Given the description of an element on the screen output the (x, y) to click on. 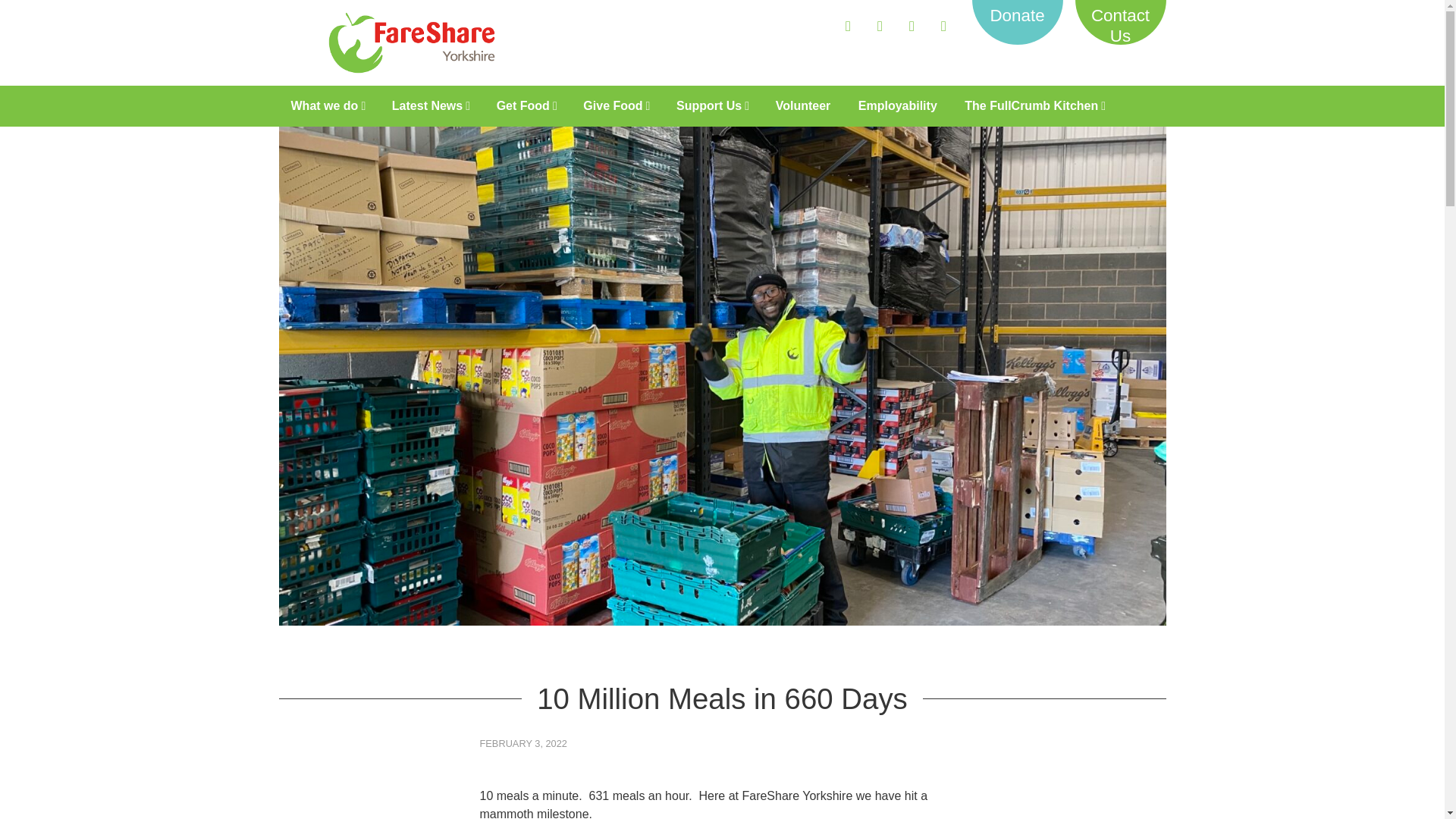
The FullCrumb Kitchen (1034, 105)
Donate (1017, 16)
What we do (328, 105)
Latest News (430, 105)
Employability (897, 105)
Contact Us (1120, 26)
Give Food (615, 105)
Support Us (711, 105)
Get Food (525, 105)
Volunteer (802, 105)
